Given the description of an element on the screen output the (x, y) to click on. 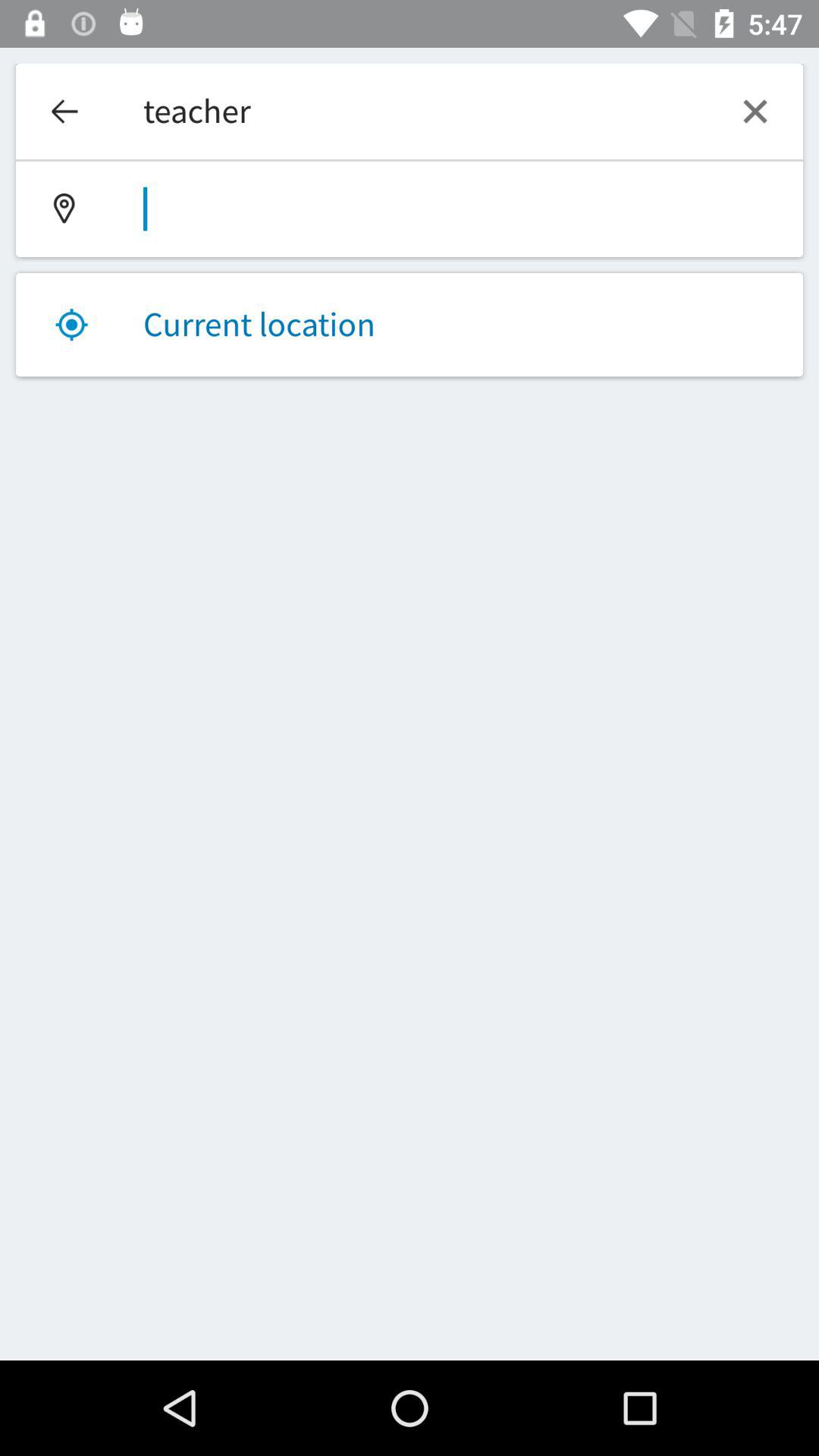
flip until the current location (409, 324)
